Given the description of an element on the screen output the (x, y) to click on. 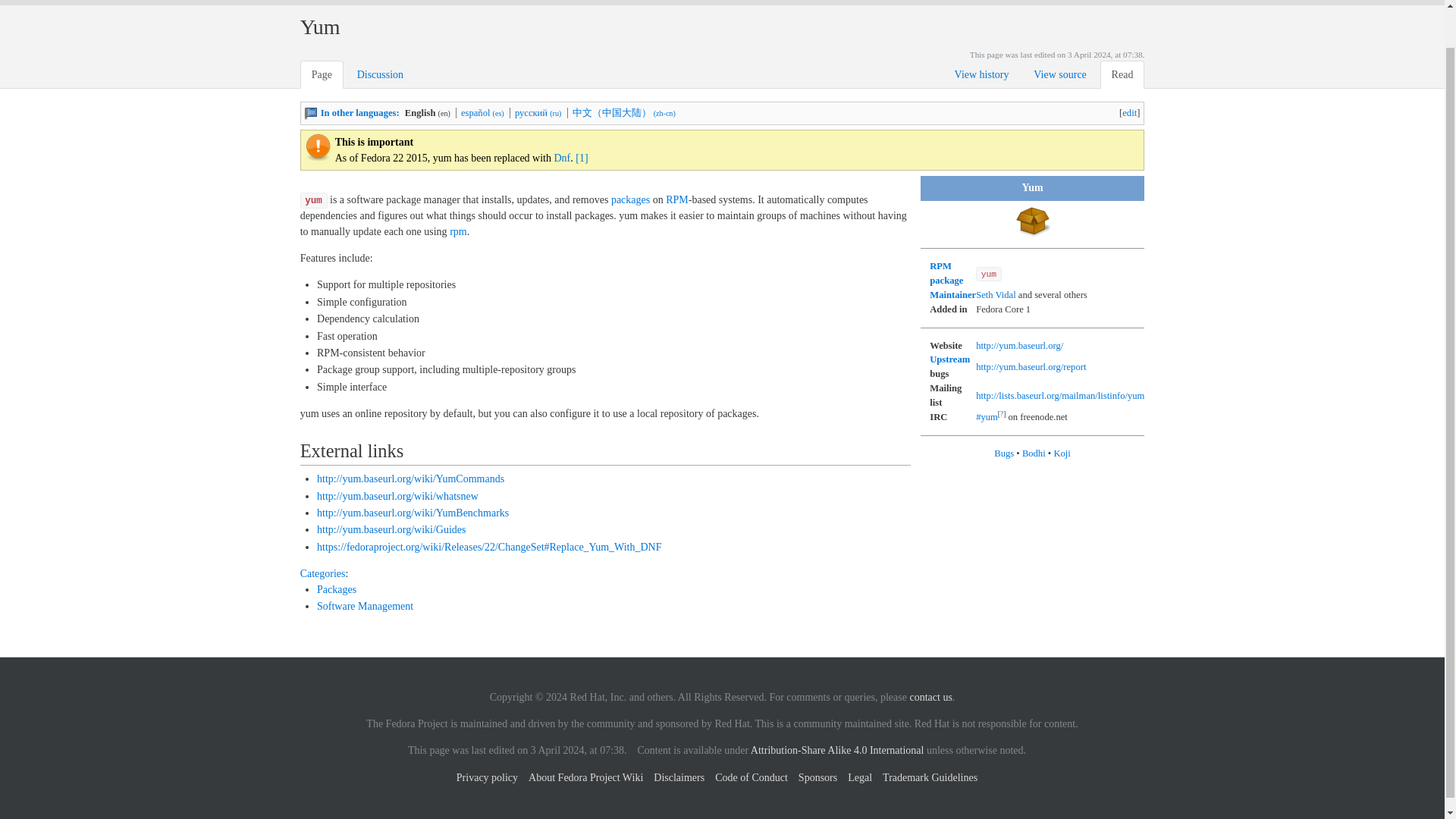
RPM (946, 273)
User:Skvidal (995, 294)
Special:Categories (322, 573)
Dnf (561, 157)
Dnf (561, 157)
Category:Packages (336, 589)
Page (321, 74)
In other languages: (359, 112)
Discussion (380, 74)
Fedora Project Wiki:Translating (310, 112)
